Given the description of an element on the screen output the (x, y) to click on. 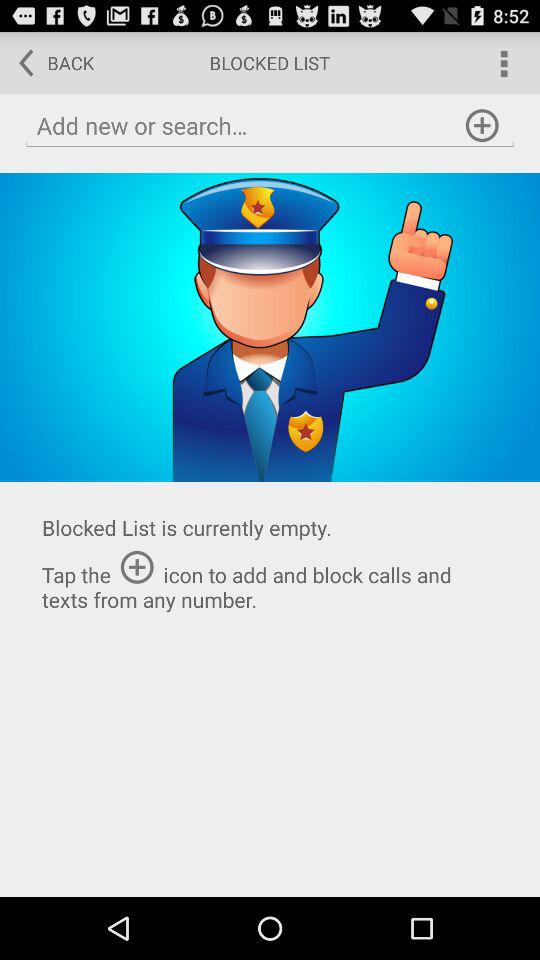
enter search term (270, 125)
